Given the description of an element on the screen output the (x, y) to click on. 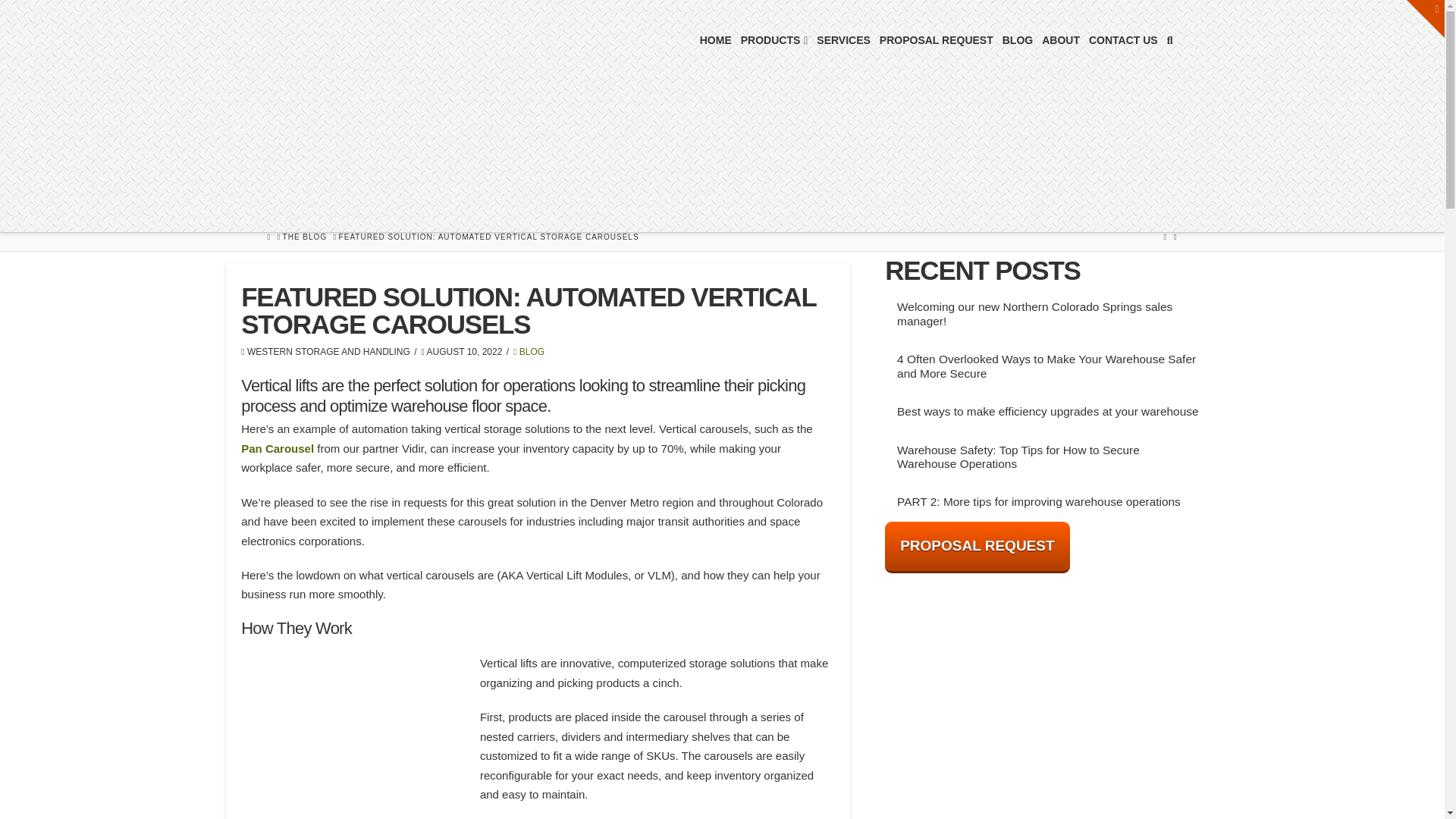
PRODUCTS (774, 38)
PROPOSAL REQUEST (936, 38)
You Are Here (489, 236)
CONTACT US (1122, 38)
